Given the description of an element on the screen output the (x, y) to click on. 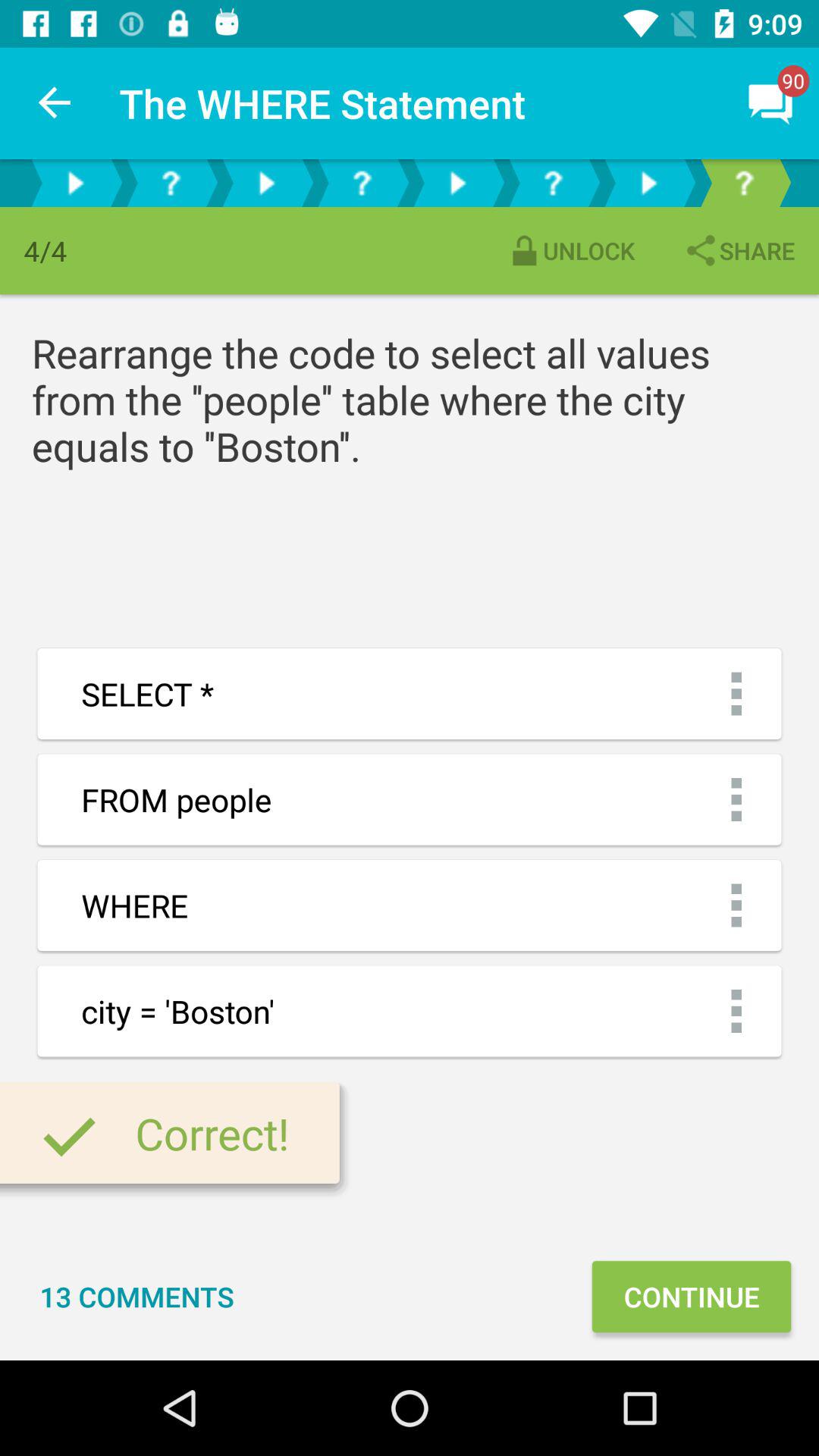
press icon above the rearrange the code icon (738, 250)
